Given the description of an element on the screen output the (x, y) to click on. 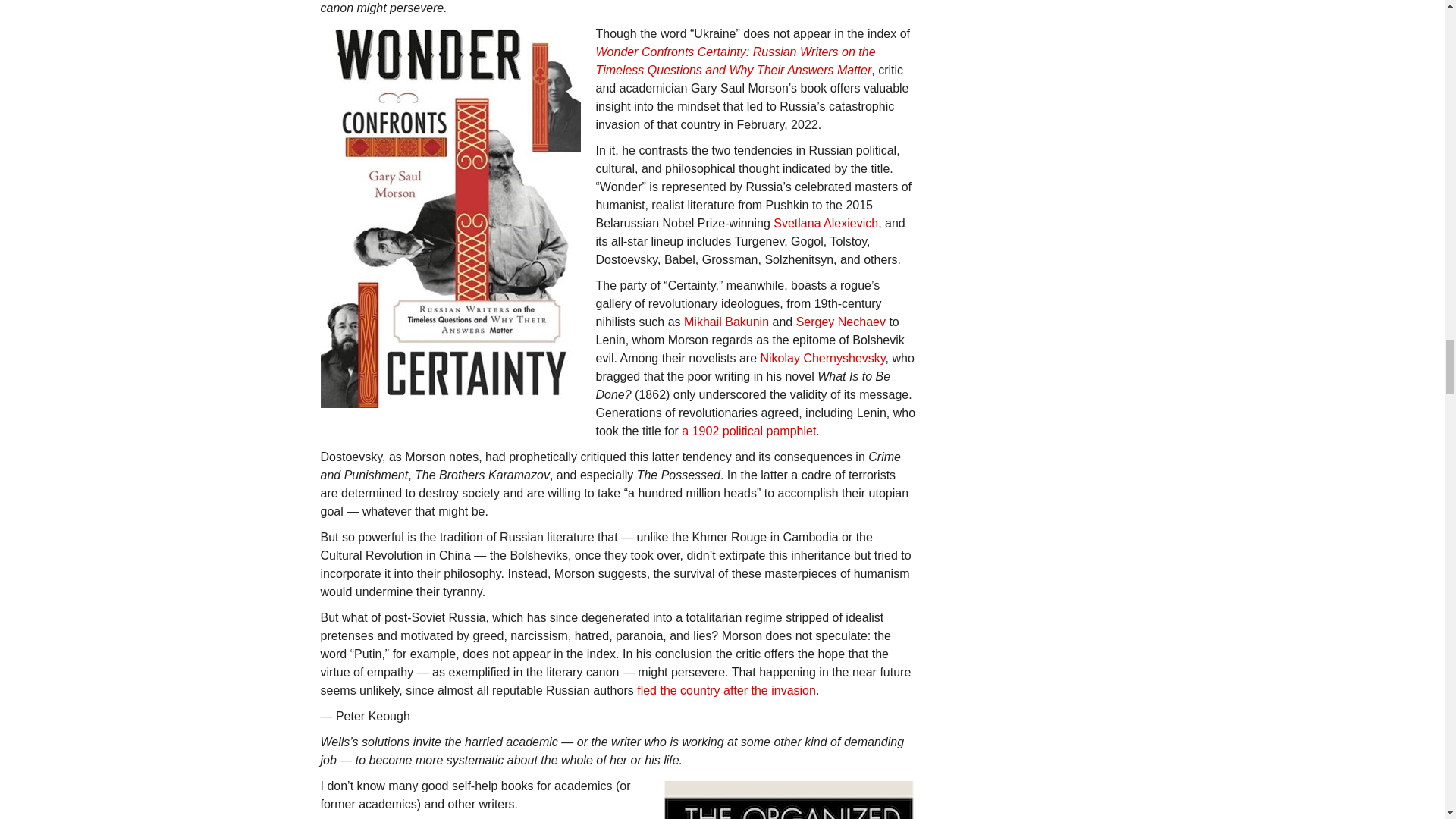
Mikhail Bakunin (726, 321)
Nikolay Chernyshevsky (822, 358)
a 1902 political pamphlet (748, 431)
fled the country after the invasion (726, 689)
Svetlana Alexievich (825, 223)
Sergey Nechaev (840, 321)
